Given the description of an element on the screen output the (x, y) to click on. 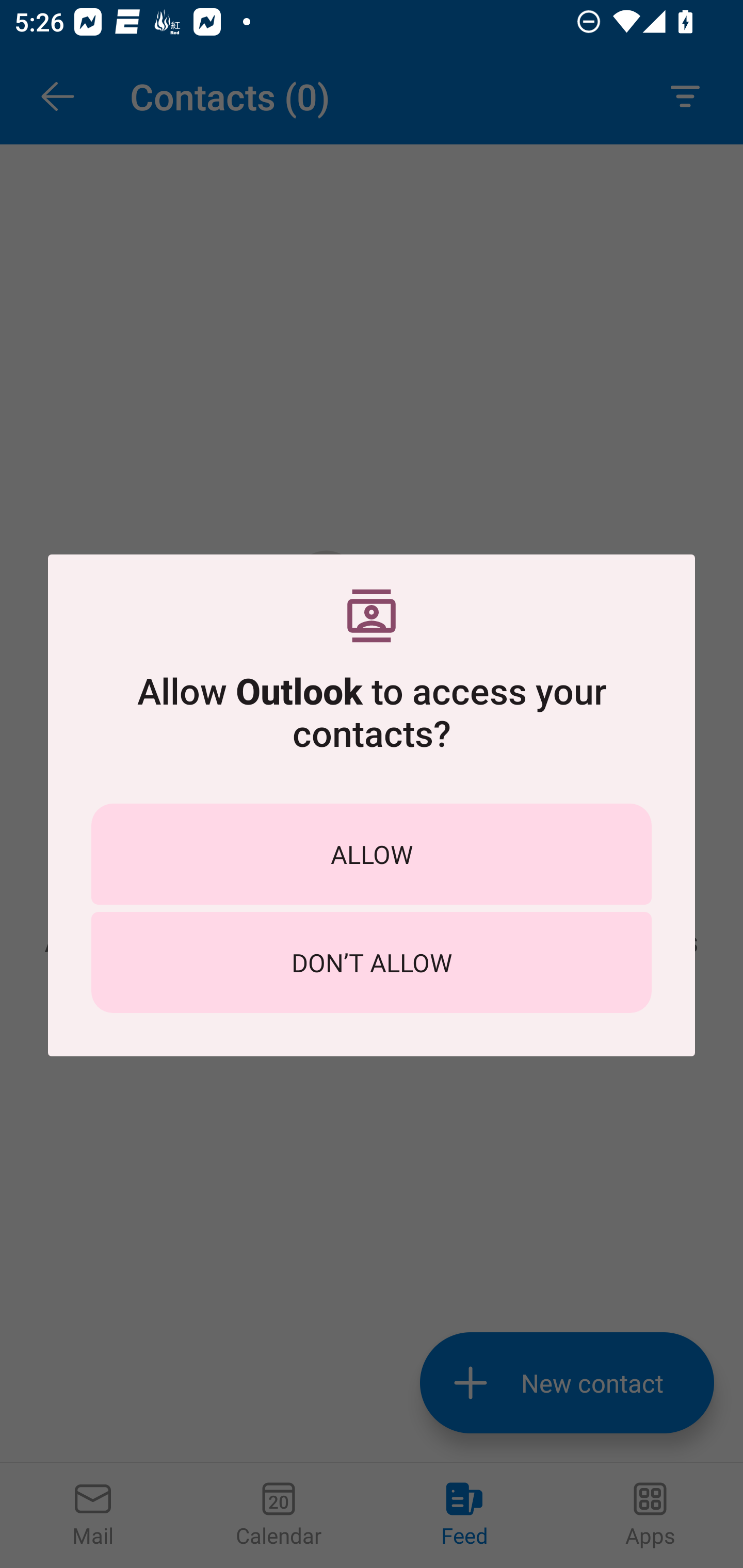
ALLOW (371, 853)
DON’T ALLOW (371, 962)
